Given the description of an element on the screen output the (x, y) to click on. 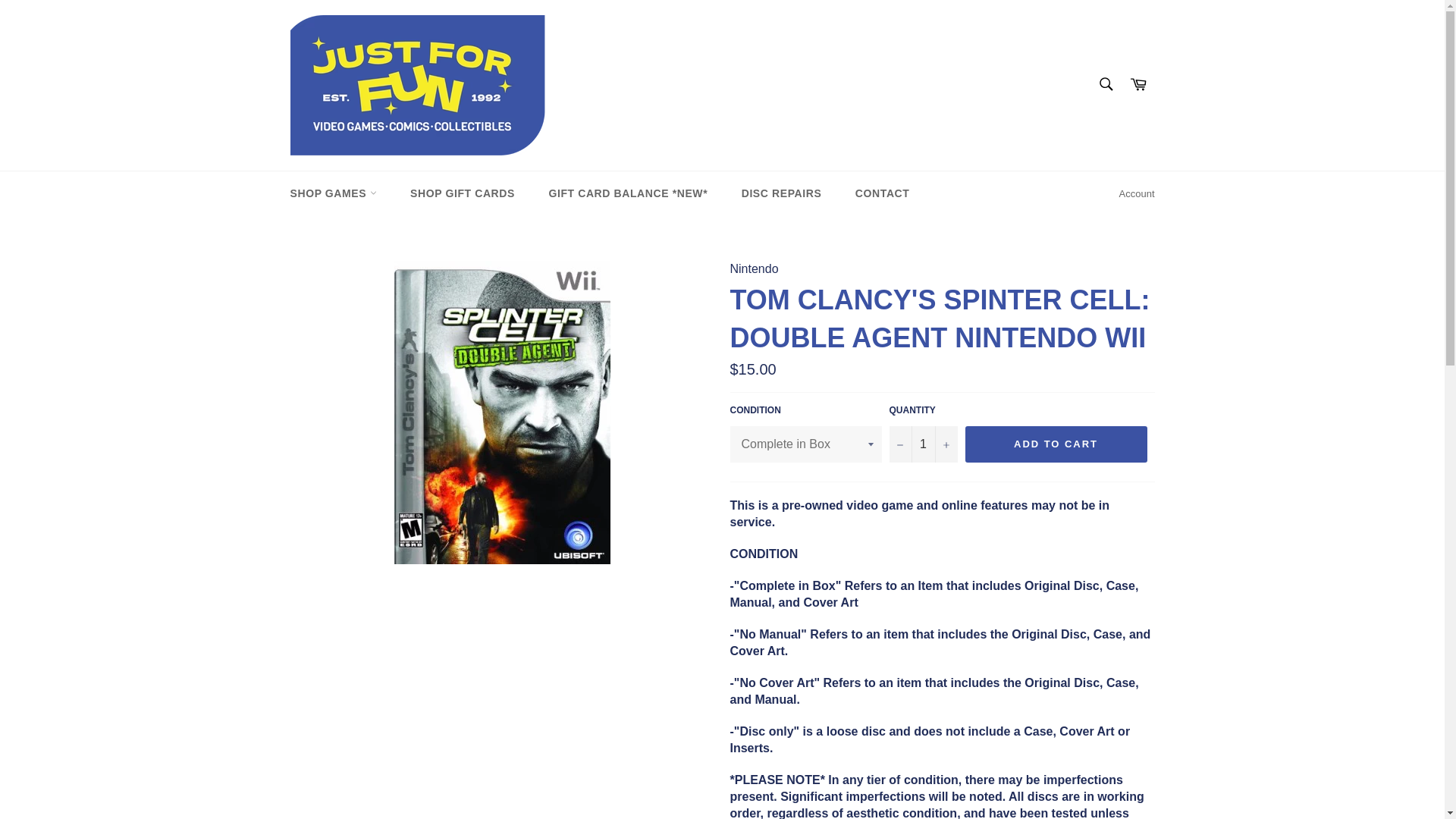
CONTACT (882, 193)
1 (922, 443)
SHOP GAMES (333, 193)
Cart (1138, 84)
SHOP GIFT CARDS (461, 193)
DISC REPAIRS (781, 193)
Search (1104, 83)
Account (1136, 193)
